Given the description of an element on the screen output the (x, y) to click on. 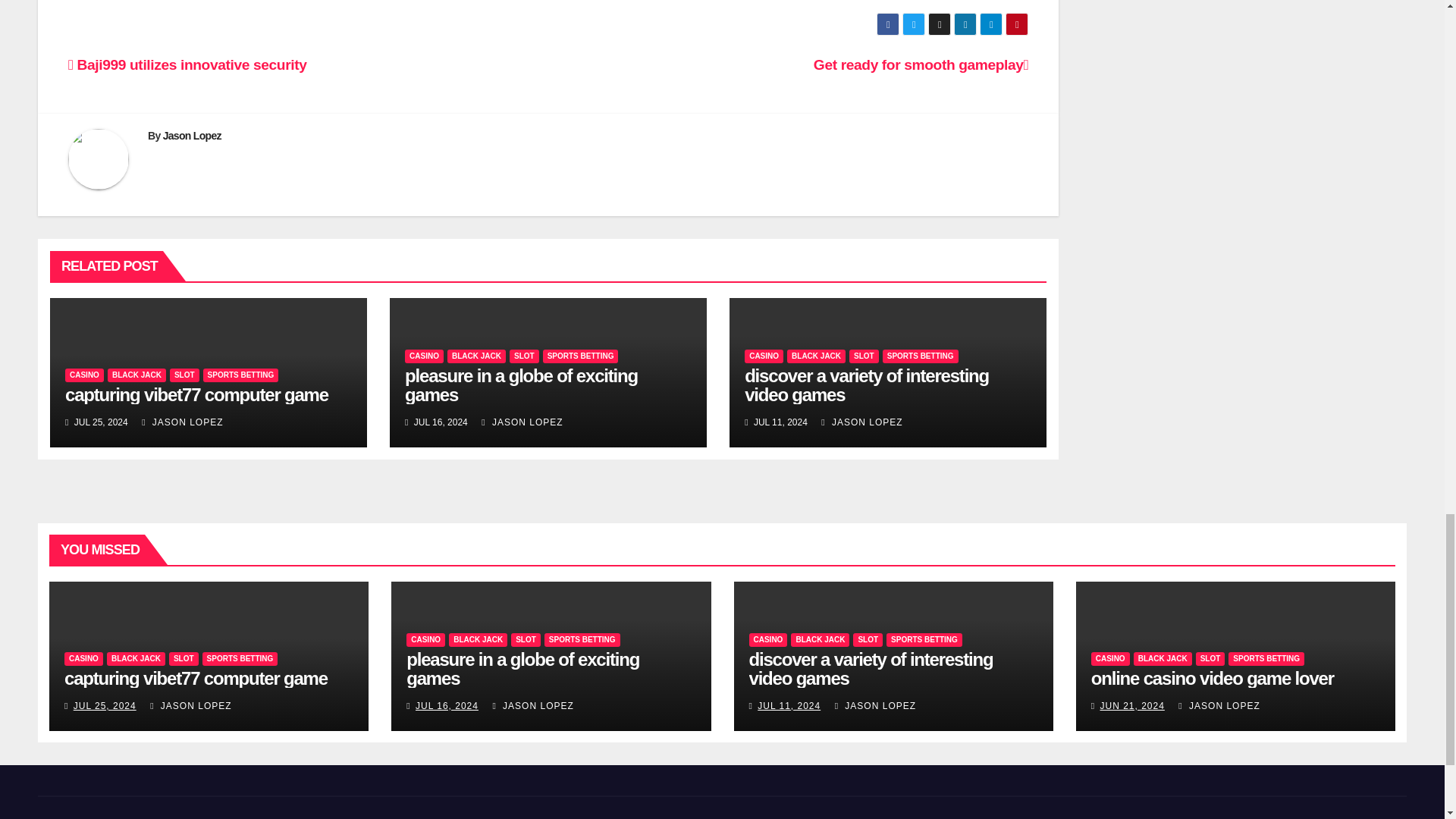
SLOT (184, 375)
Jason Lopez (192, 135)
Permalink to: discover a variety of interesting video games (870, 668)
Permalink to: capturing vibet77 computer game (195, 678)
Permalink to: pleasure in a globe of exciting games (522, 668)
Get ready for smooth gameplay (920, 64)
Permalink to: capturing vibet77 computer game (197, 394)
SPORTS BETTING (241, 375)
Baji999 utilizes innovative security (186, 64)
Permalink to: pleasure in a globe of exciting games (520, 384)
BLACK JACK (136, 375)
CASINO (84, 375)
Permalink to: discover a variety of interesting video games (866, 384)
Permalink to: online casino video game lover (1211, 678)
